Given the description of an element on the screen output the (x, y) to click on. 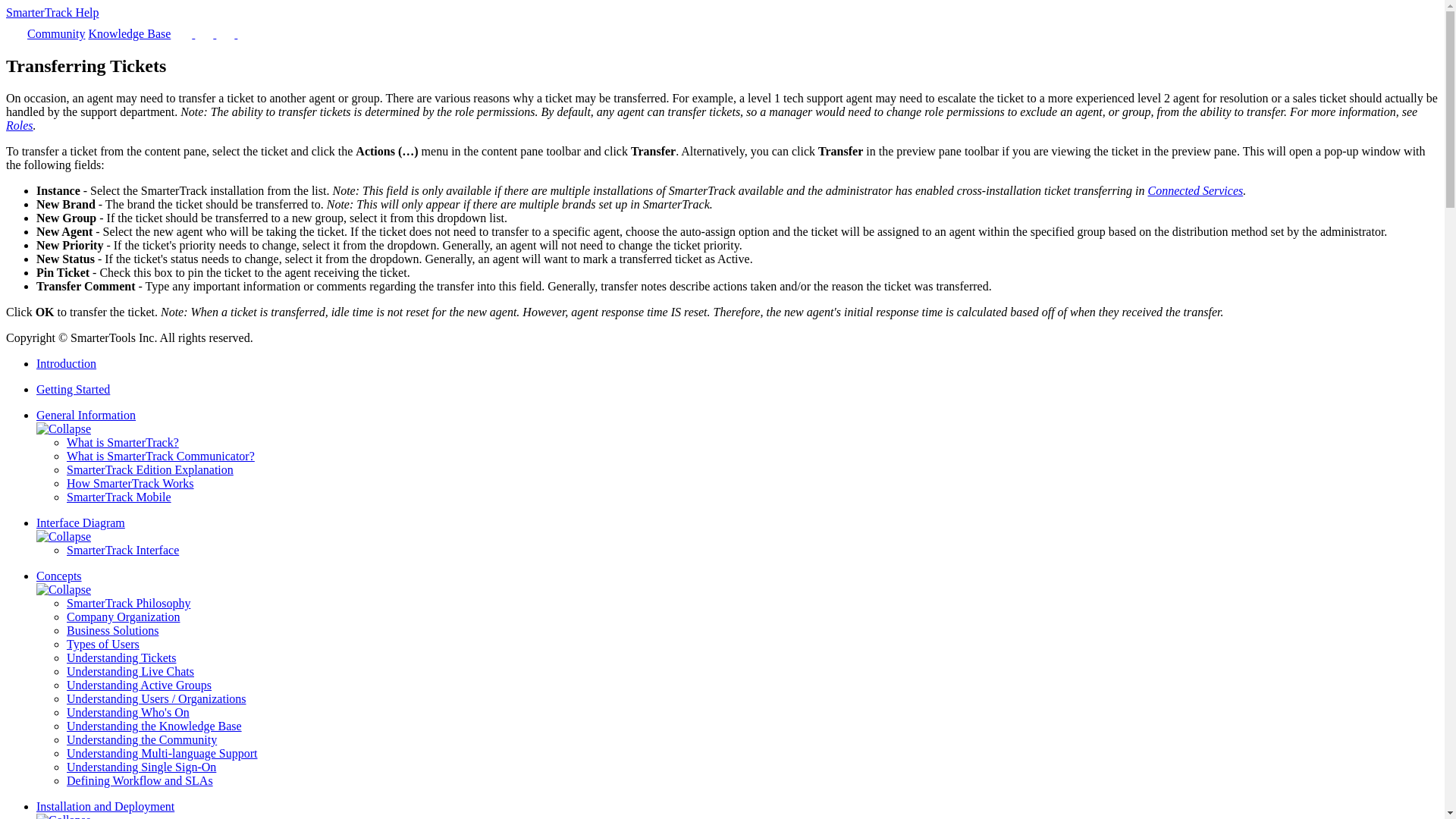
SmarterTrack Mobile (118, 496)
Understanding Active Groups (138, 684)
Community (55, 33)
SmarterTrack Edition Explanation (149, 469)
What is SmarterTrack? (122, 441)
Introduction (66, 363)
Understanding Who's On (127, 712)
Understanding Single Sign-On (140, 766)
Company Organization (122, 616)
Getting Started (73, 389)
